Given the description of an element on the screen output the (x, y) to click on. 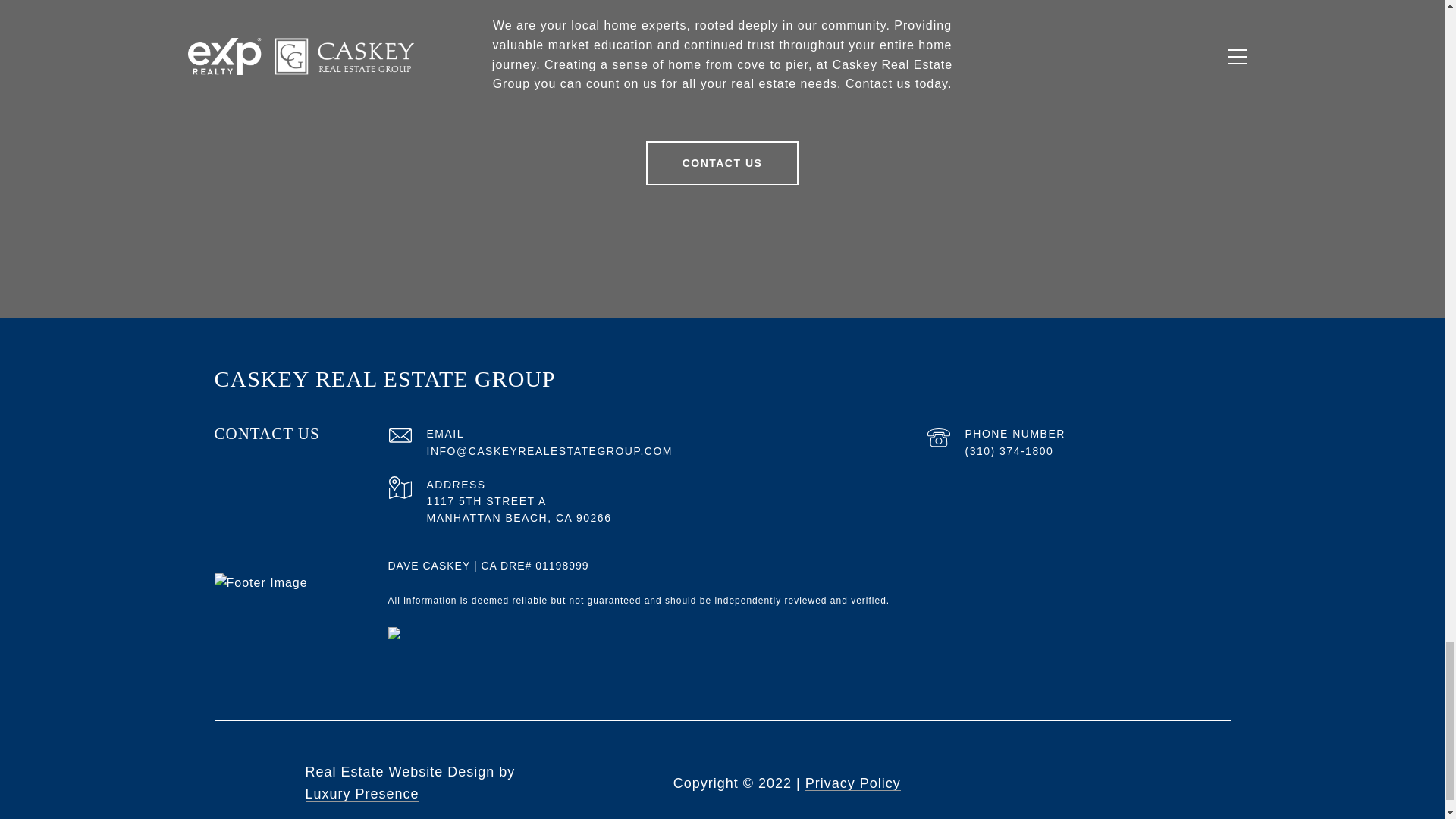
CONTACT US (722, 162)
